Given the description of an element on the screen output the (x, y) to click on. 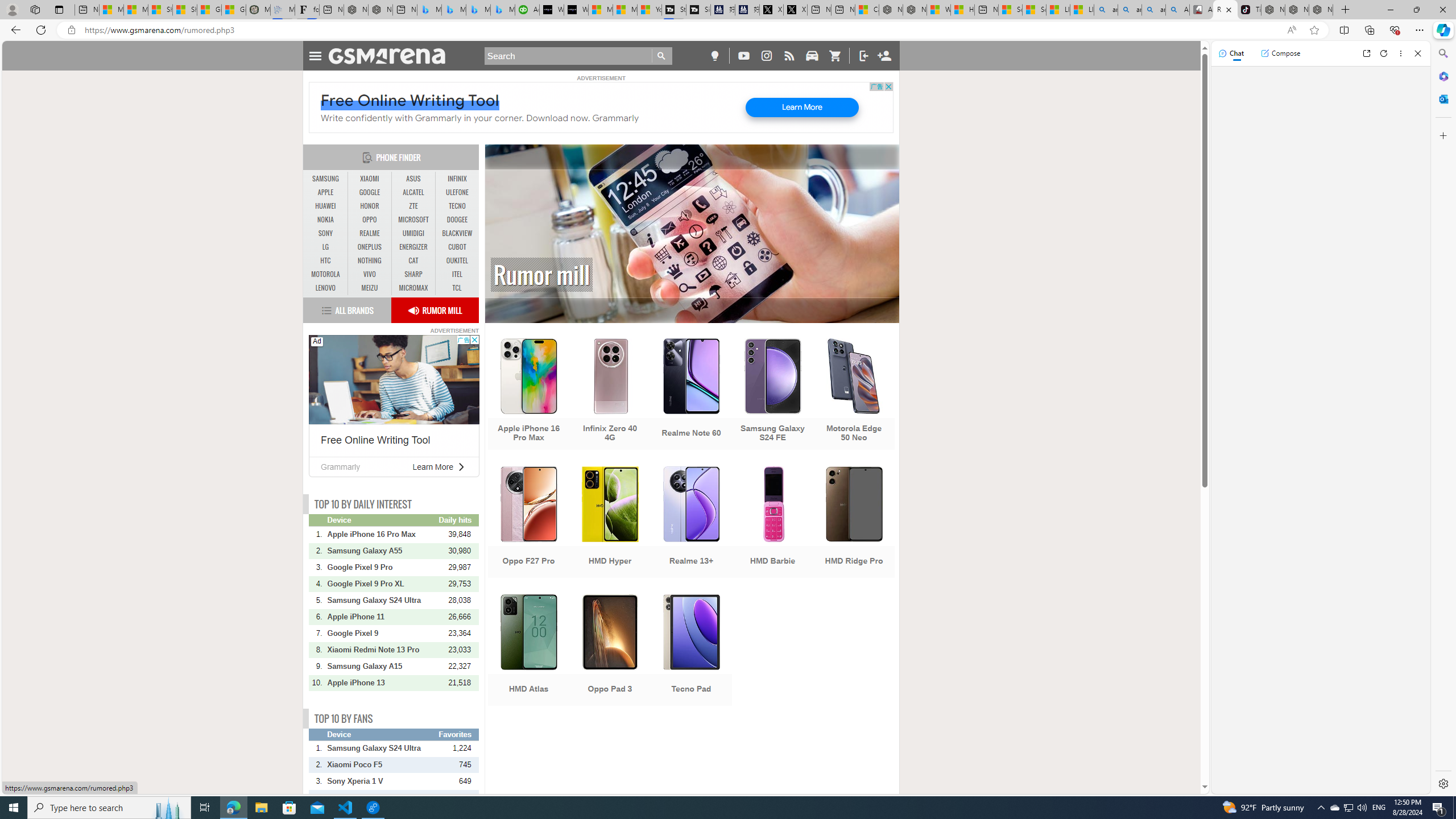
ITEL (457, 273)
What's the best AI voice generator? - voice.ai (575, 9)
HMD Barbie (772, 523)
Samsung Galaxy S24 Ultra (381, 748)
Wildlife - MSN (938, 9)
REALME (369, 233)
CAT (413, 260)
Nordace - Best Sellers (1273, 9)
ZTE (413, 205)
Xiaomi Redmi Note 13 Pro (381, 649)
Class: ns-pn808-e-4 (393, 379)
